Given the description of an element on the screen output the (x, y) to click on. 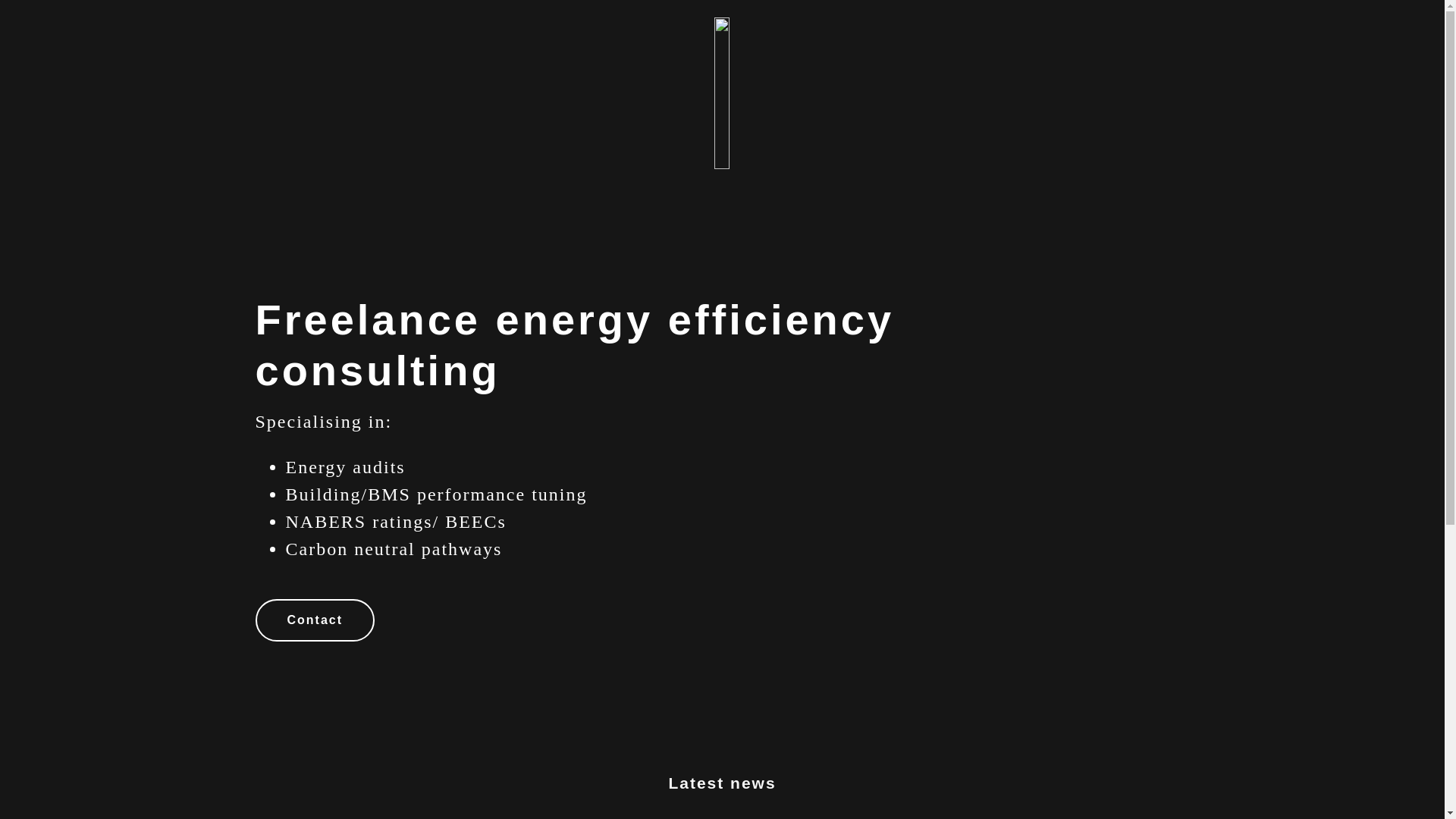
Contact Element type: text (314, 620)
